Given the description of an element on the screen output the (x, y) to click on. 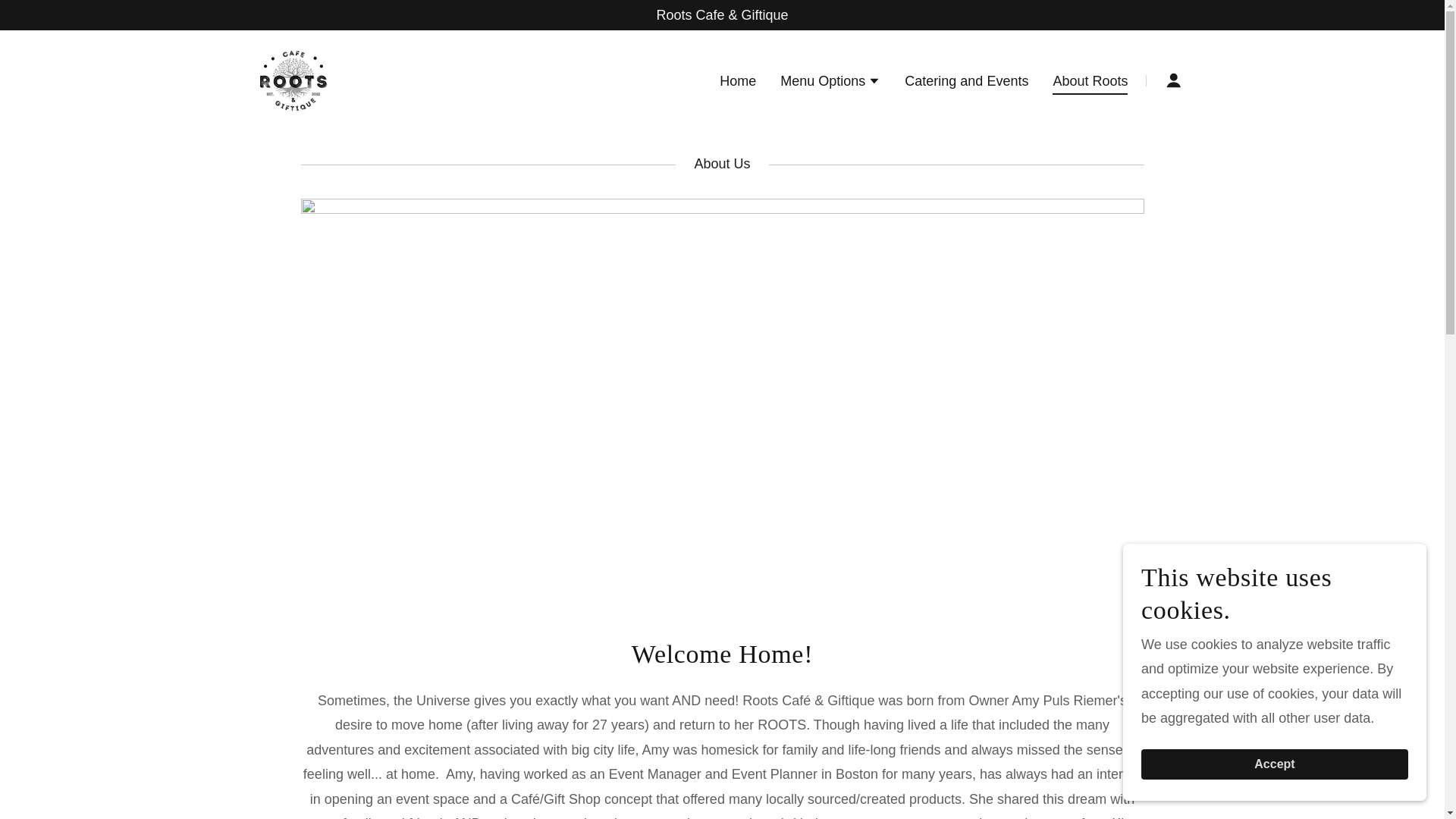
Catering and Events (965, 80)
Home (737, 80)
Menu Options (830, 82)
About Roots (1089, 83)
